Given the description of an element on the screen output the (x, y) to click on. 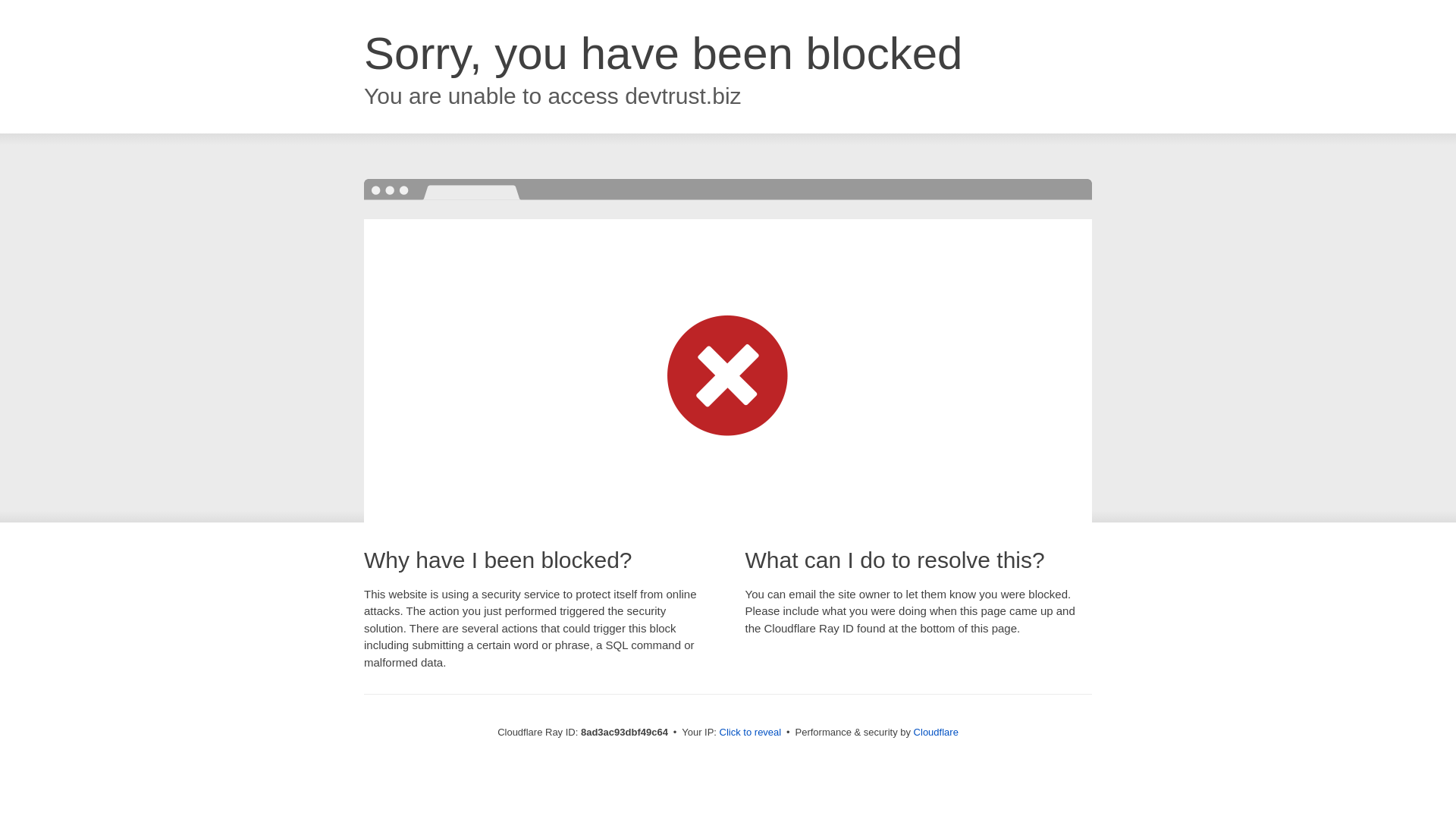
Cloudflare (936, 731)
Click to reveal (750, 732)
